Given the description of an element on the screen output the (x, y) to click on. 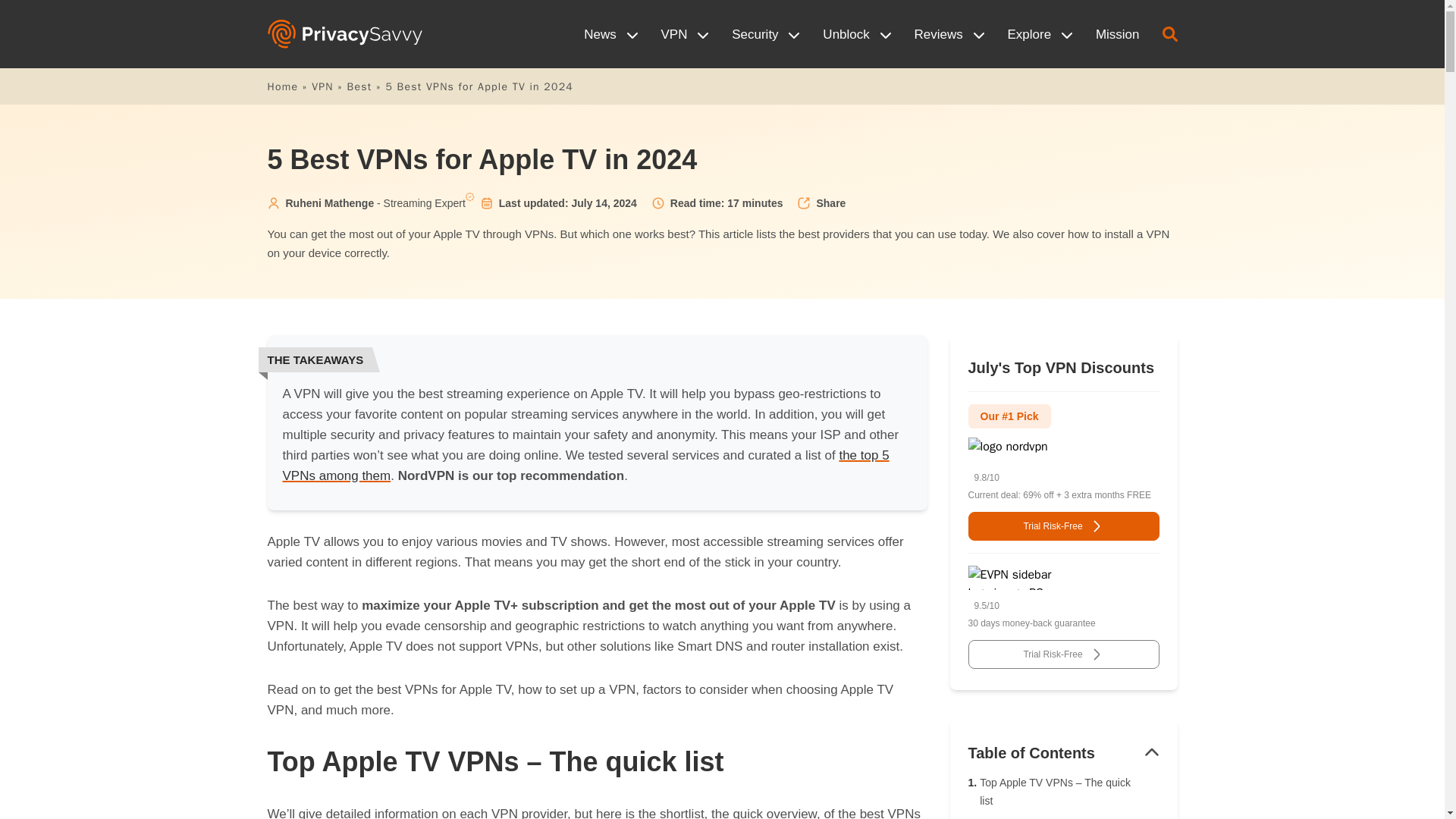
Security (765, 34)
Unblock (856, 34)
Reviews (949, 34)
VPN (685, 34)
News (610, 34)
